Given the description of an element on the screen output the (x, y) to click on. 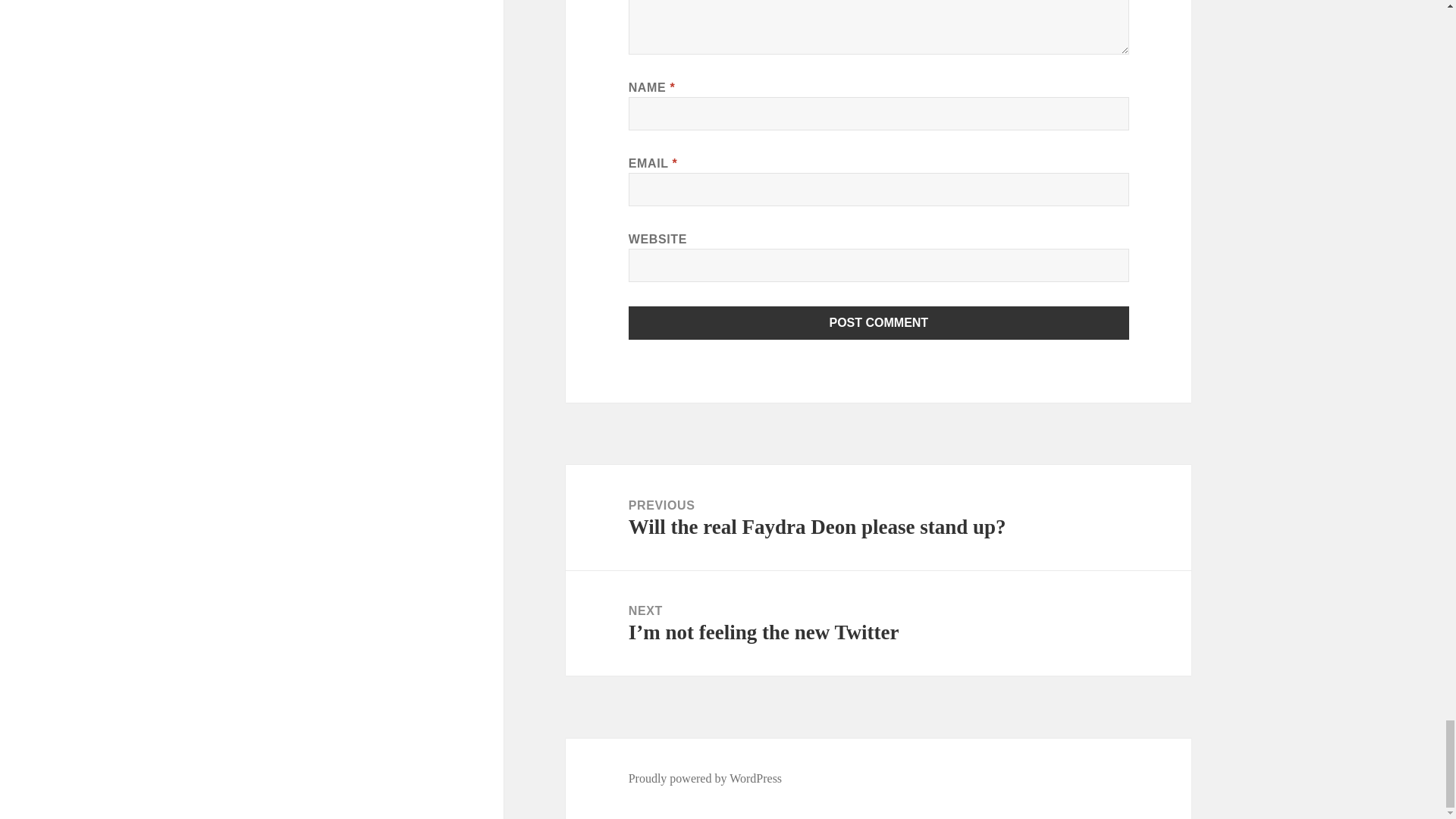
Post Comment (878, 322)
